Given the description of an element on the screen output the (x, y) to click on. 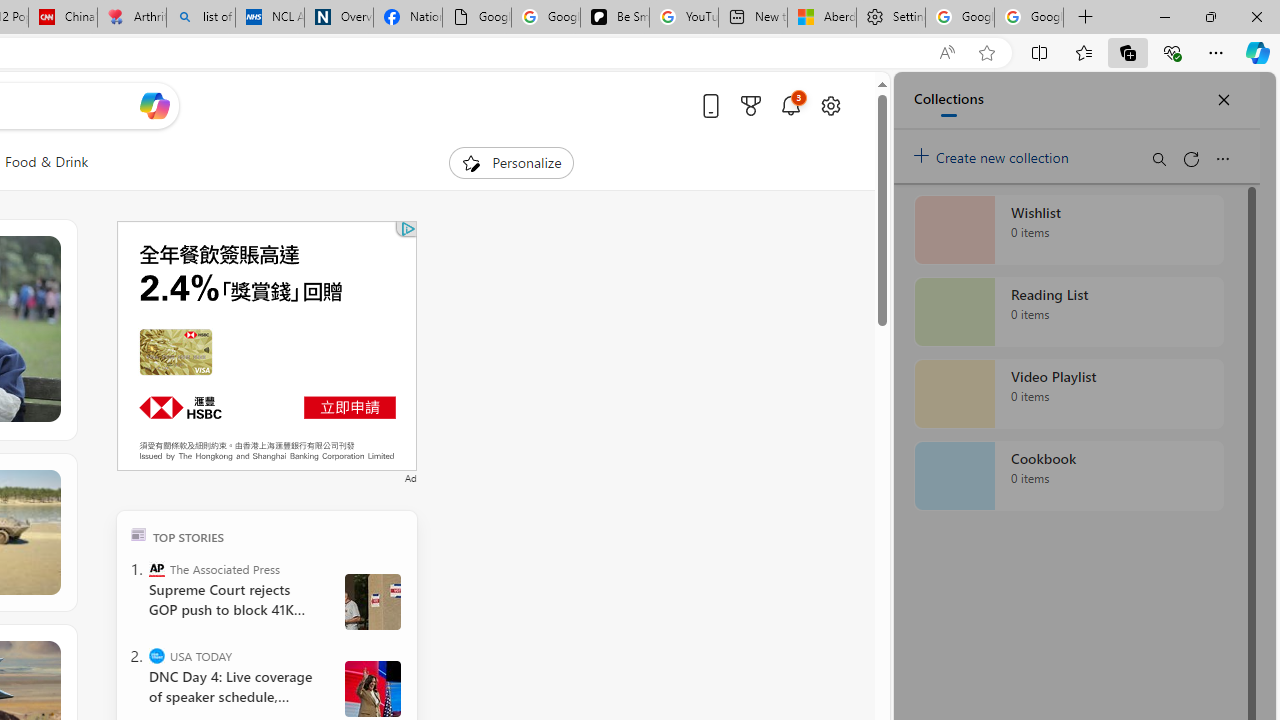
NCL Adult Asthma Inhaler Choice Guideline (269, 17)
Be Smart | creating Science videos | Patreon (614, 17)
